Given the description of an element on the screen output the (x, y) to click on. 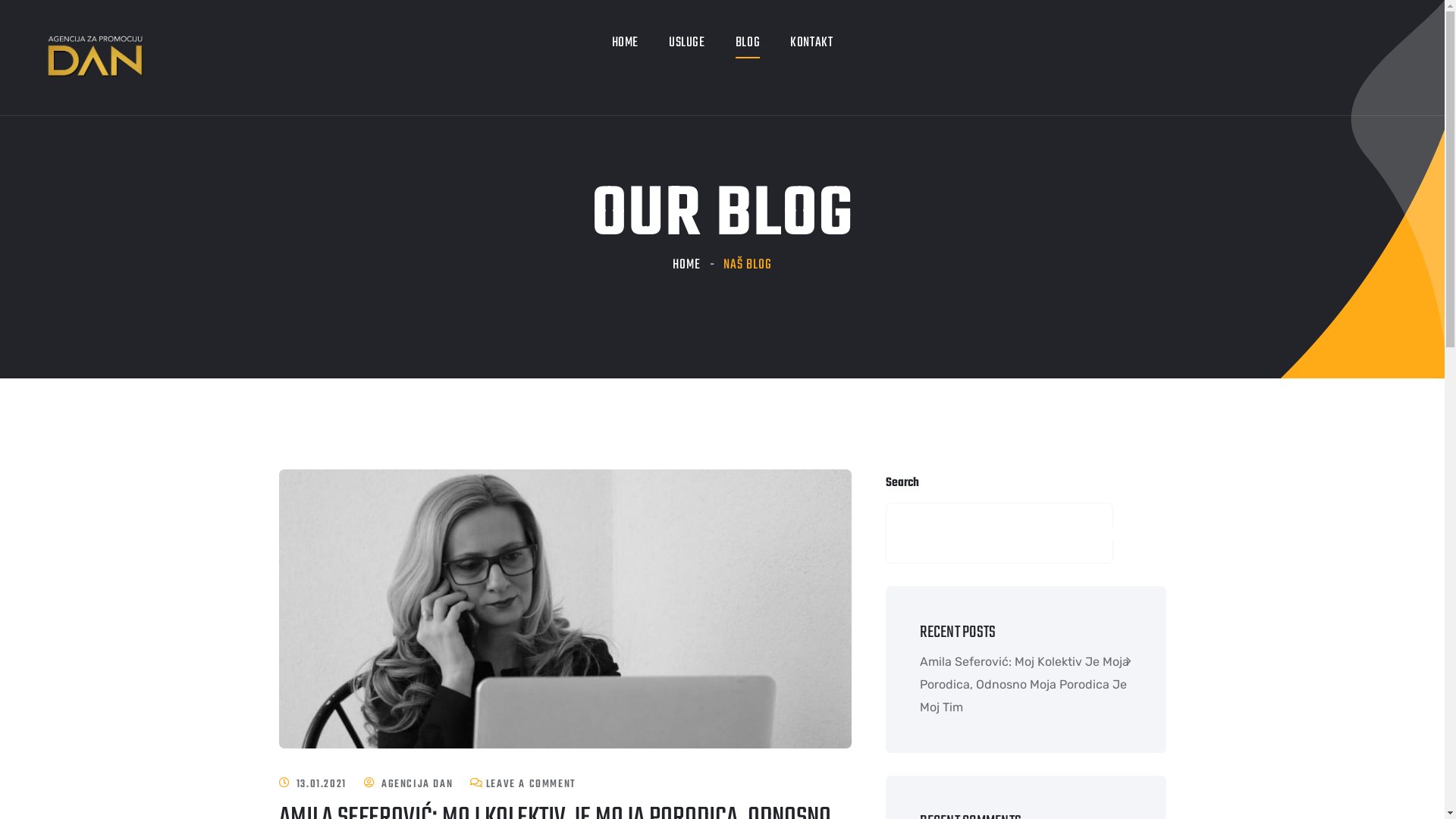
HOME Element type: text (686, 265)
USLUGE Element type: text (686, 42)
BLOG Element type: text (747, 42)
KONTAKT Element type: text (811, 42)
AGENCIJA DAN Element type: text (416, 784)
HOME Element type: text (624, 42)
13.01.2021 Element type: text (321, 784)
SEARCH Element type: text (1117, 532)
